Given the description of an element on the screen output the (x, y) to click on. 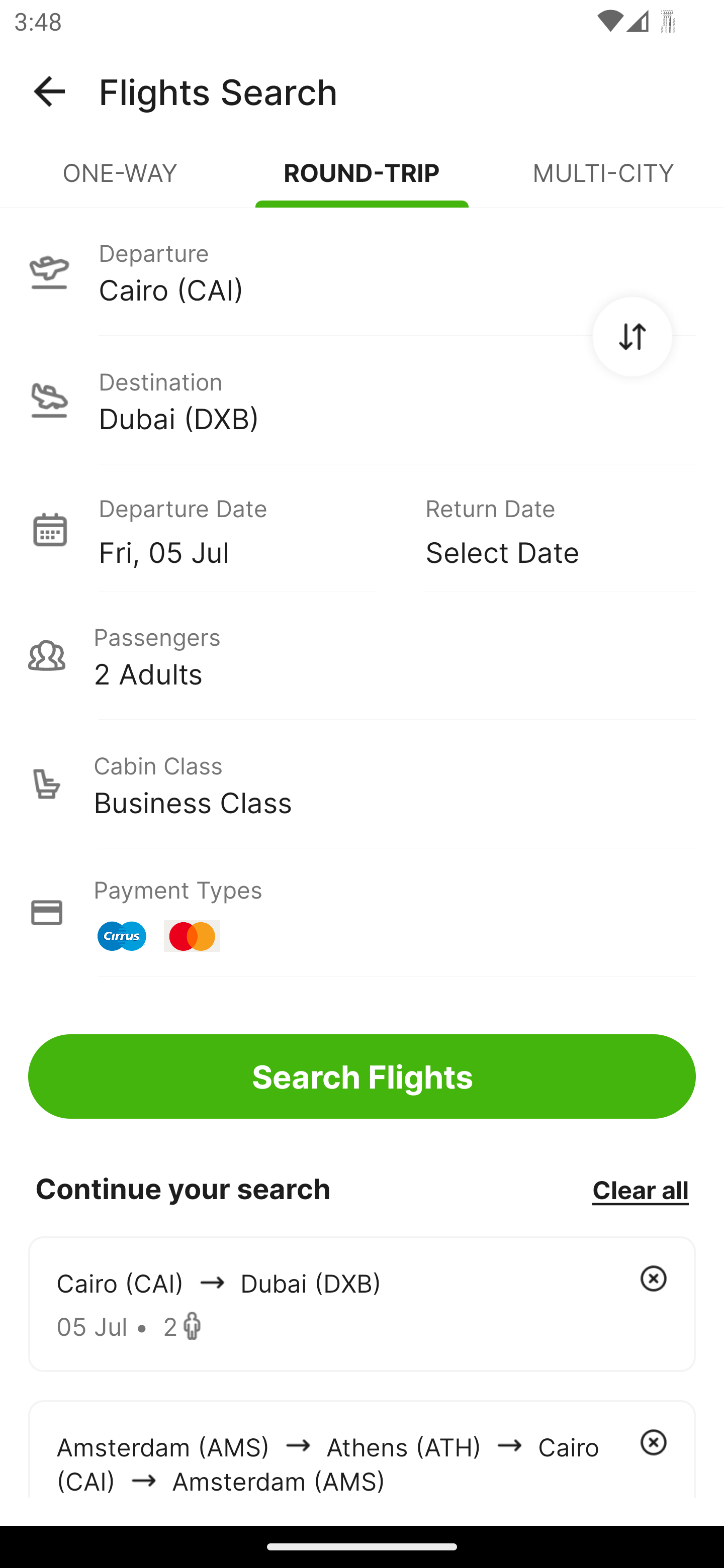
ONE-WAY (120, 180)
ROUND-TRIP (361, 180)
MULTI-CITY (603, 180)
Departure Cairo (CAI) (362, 270)
Destination Dubai (DXB) (362, 400)
Departure Date Fri, 05 Jul (247, 528)
Return Date Select Date (546, 528)
Passengers 2 Adults (362, 655)
Cabin Class Business Class (362, 783)
Payment Types (362, 912)
Search Flights (361, 1075)
Clear all (640, 1189)
Cairo (CAI)  arrowIcon  Dubai (DXB) 05 Jul •  2  (361, 1303)
